Given the description of an element on the screen output the (x, y) to click on. 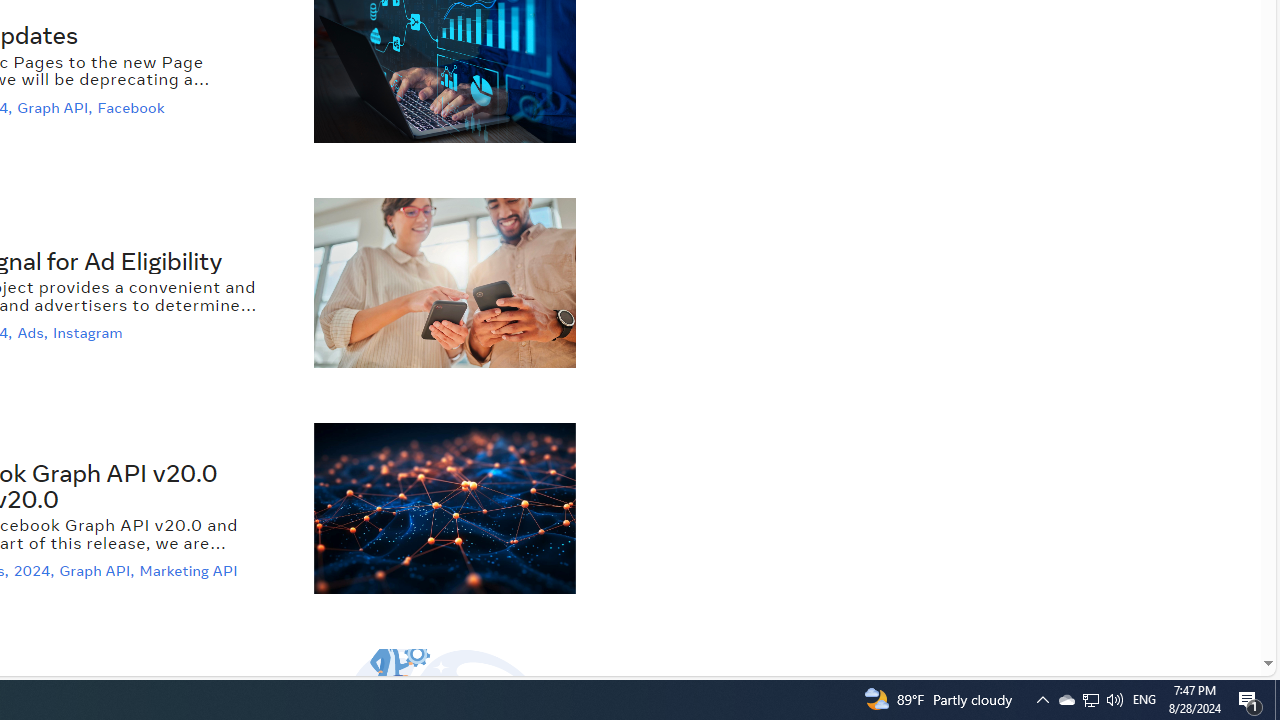
Marketing API (191, 571)
2024, (36, 571)
Facebook (133, 106)
Ads, (34, 333)
Graph API, (98, 571)
Instagram (90, 333)
